Given the description of an element on the screen output the (x, y) to click on. 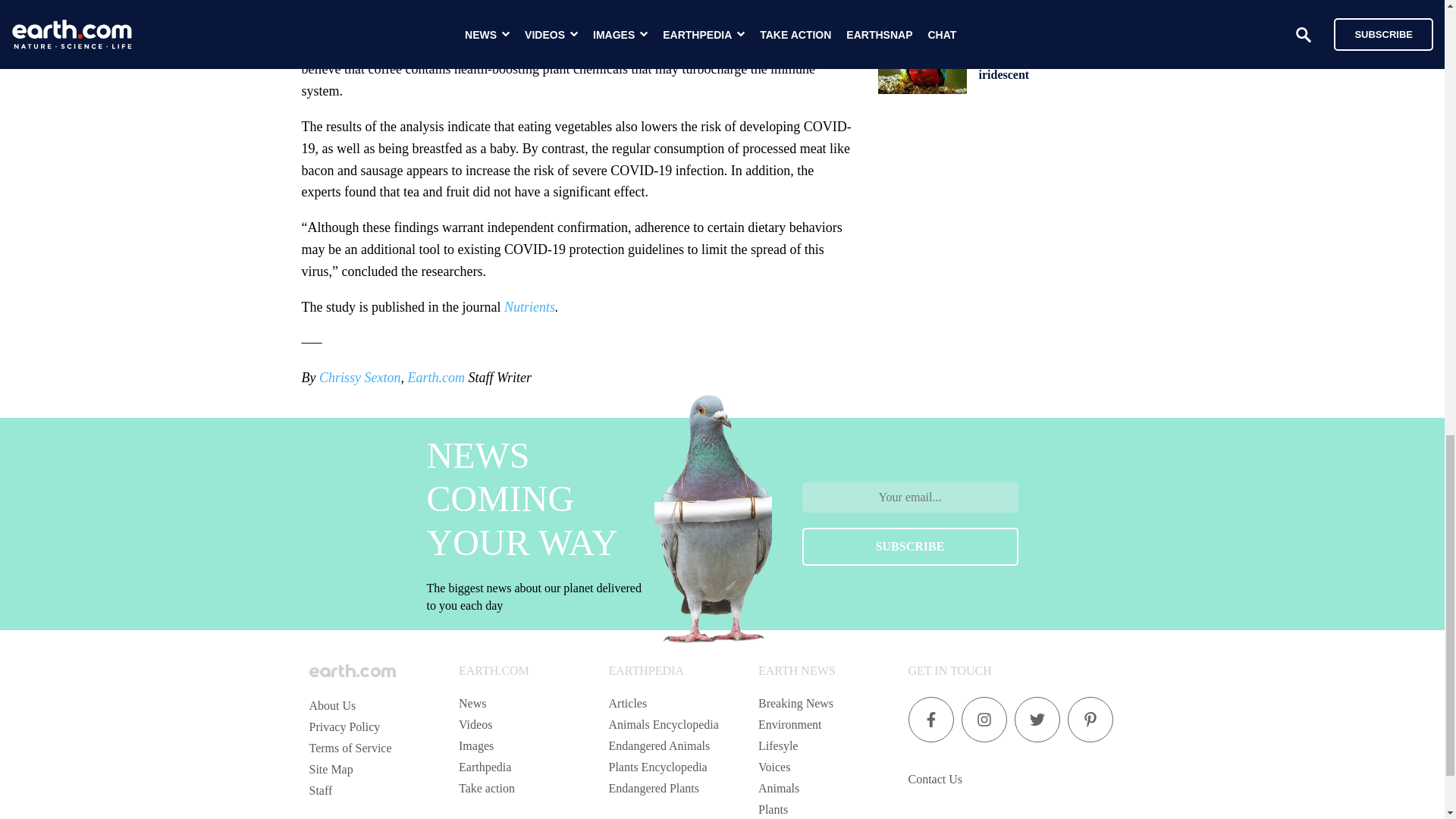
SUBSCRIBE (909, 546)
Chrissy Sexton (359, 377)
Earth.com (435, 377)
Nutrients (528, 306)
About Us (332, 705)
